Given the description of an element on the screen output the (x, y) to click on. 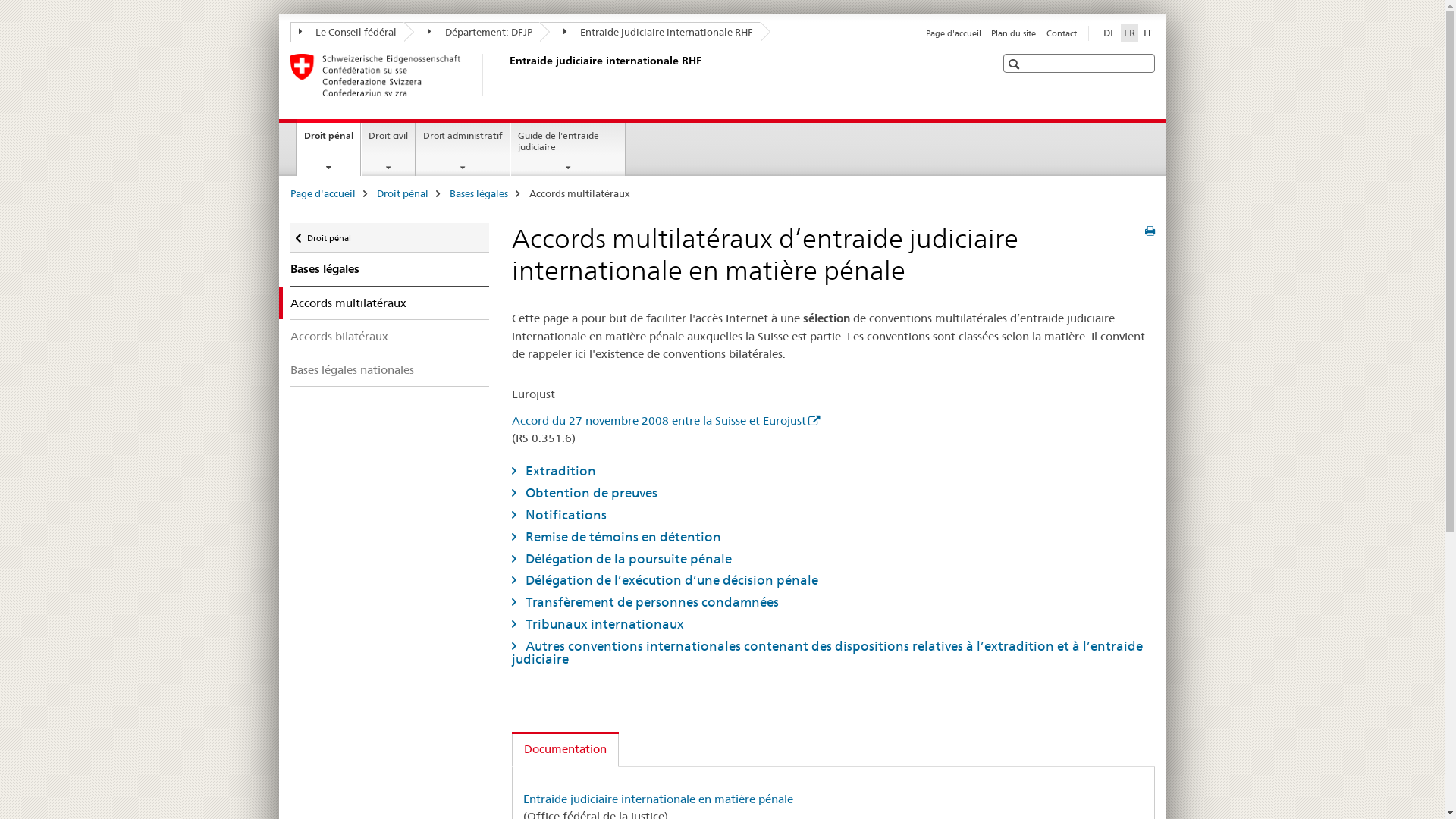
Droit administratif Element type: text (462, 148)
IT Element type: text (1147, 32)
Entraide judiciaire internationale RHF Element type: text (650, 31)
DE Element type: text (1108, 32)
Droit civil Element type: text (387, 148)
FR Element type: text (1129, 32)
Tribunaux internationaux Element type: text (832, 623)
Contact Element type: text (1061, 33)
Notifications Element type: text (832, 514)
Page d'accueil Element type: text (321, 193)
Entraide judiciaire internationale RHF Element type: text (505, 74)
Guide de l'entraide judiciaire Element type: text (567, 148)
Page d'accueil Element type: text (953, 33)
Obtention de preuves Element type: text (832, 492)
Extradition Element type: text (832, 470)
Documentation Element type: text (564, 749)
Accord du 27 novembre 2008 entre la Suisse et Eurojust Element type: text (665, 420)
Imprimer cette page Element type: hover (1149, 230)
Plan du site Element type: text (1013, 33)
